Given the description of an element on the screen output the (x, y) to click on. 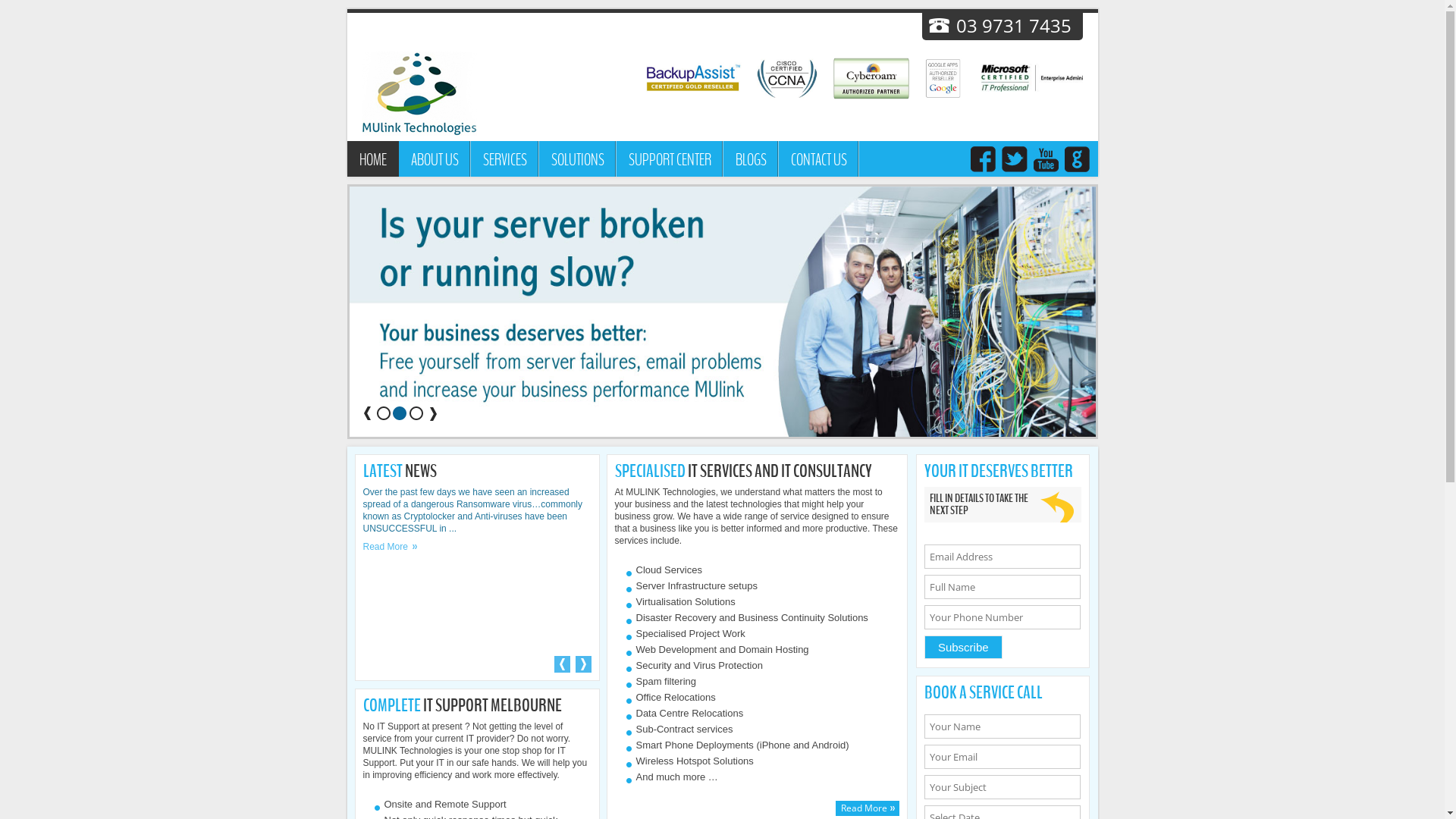
HOME Element type: text (372, 158)
gallery_2 Element type: hover (722, 311)
SOLUTIONS Element type: text (576, 158)
3 Element type: text (414, 413)
Read More Element type: text (389, 546)
backup_assist_certified_gold_reseller Element type: hover (697, 78)
Facebook Element type: hover (983, 160)
google_apps_authorized_reseller_google Element type: hover (961, 78)
microsoft_certified_it_professional Element type: hover (1057, 78)
Read More Element type: text (867, 807)
Twitter Element type: hover (1013, 160)
SERVICES Element type: text (504, 158)
Youtube Element type: hover (1045, 160)
2 Element type: text (399, 413)
Skip to content Element type: text (771, 146)
ABOUT US Element type: text (434, 158)
Mulink Technologies Element type: hover (419, 93)
BLOGS Element type: text (750, 158)
1 Element type: text (383, 413)
cisco_certified_ccna Element type: hover (805, 78)
SUPPORT CENTER Element type: text (668, 158)
Google + Element type: hover (1075, 160)
cyberoam_authorized_partner Element type: hover (889, 78)
CONTACT US Element type: text (818, 158)
Mulink Technologies Element type: hover (419, 96)
Subscribe Element type: text (962, 646)
